Given the description of an element on the screen output the (x, y) to click on. 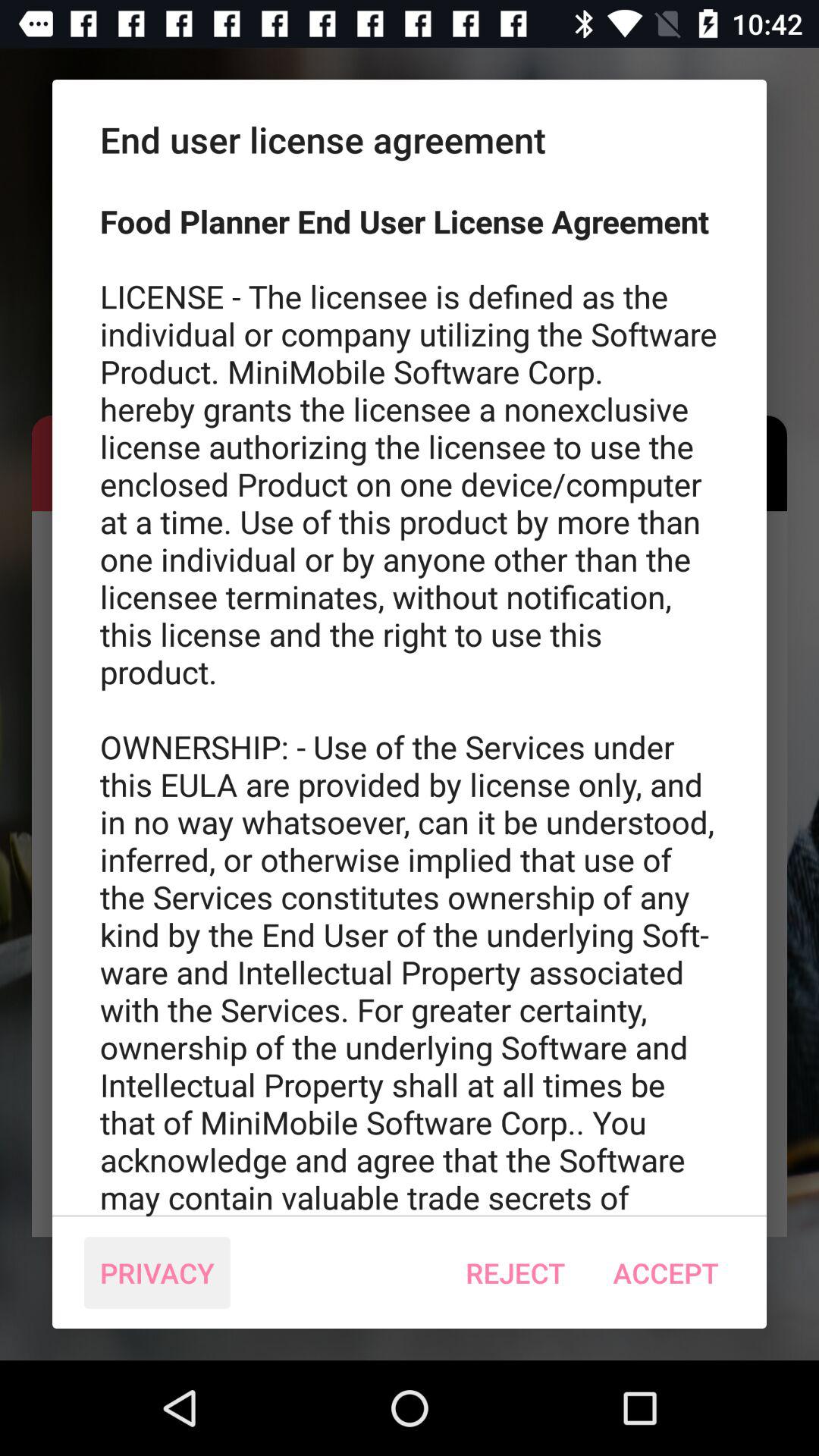
open icon below food planner end icon (515, 1272)
